Given the description of an element on the screen output the (x, y) to click on. 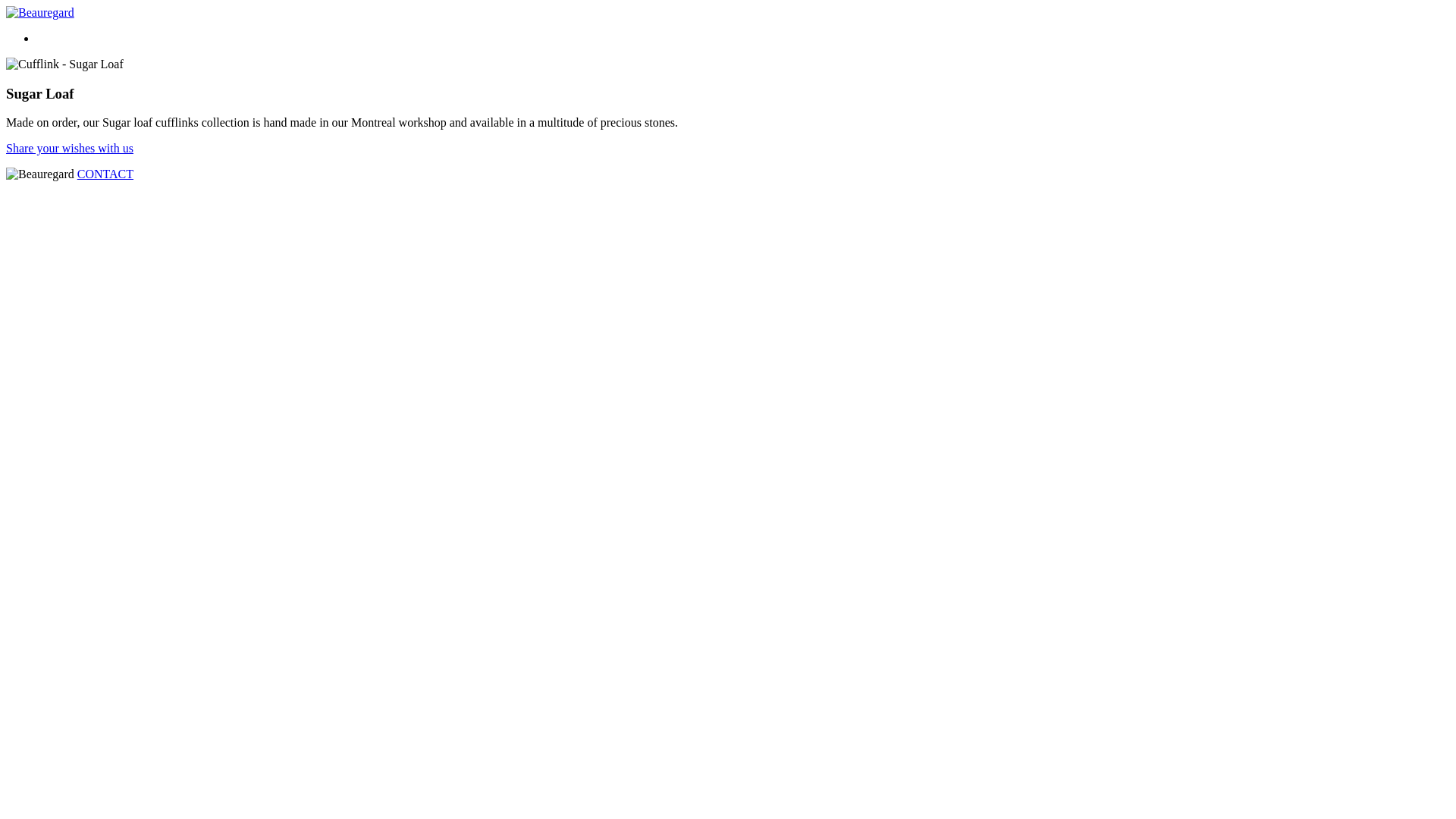
CONTACT Element type: text (105, 173)
Share your wishes with us Element type: text (69, 147)
